Given the description of an element on the screen output the (x, y) to click on. 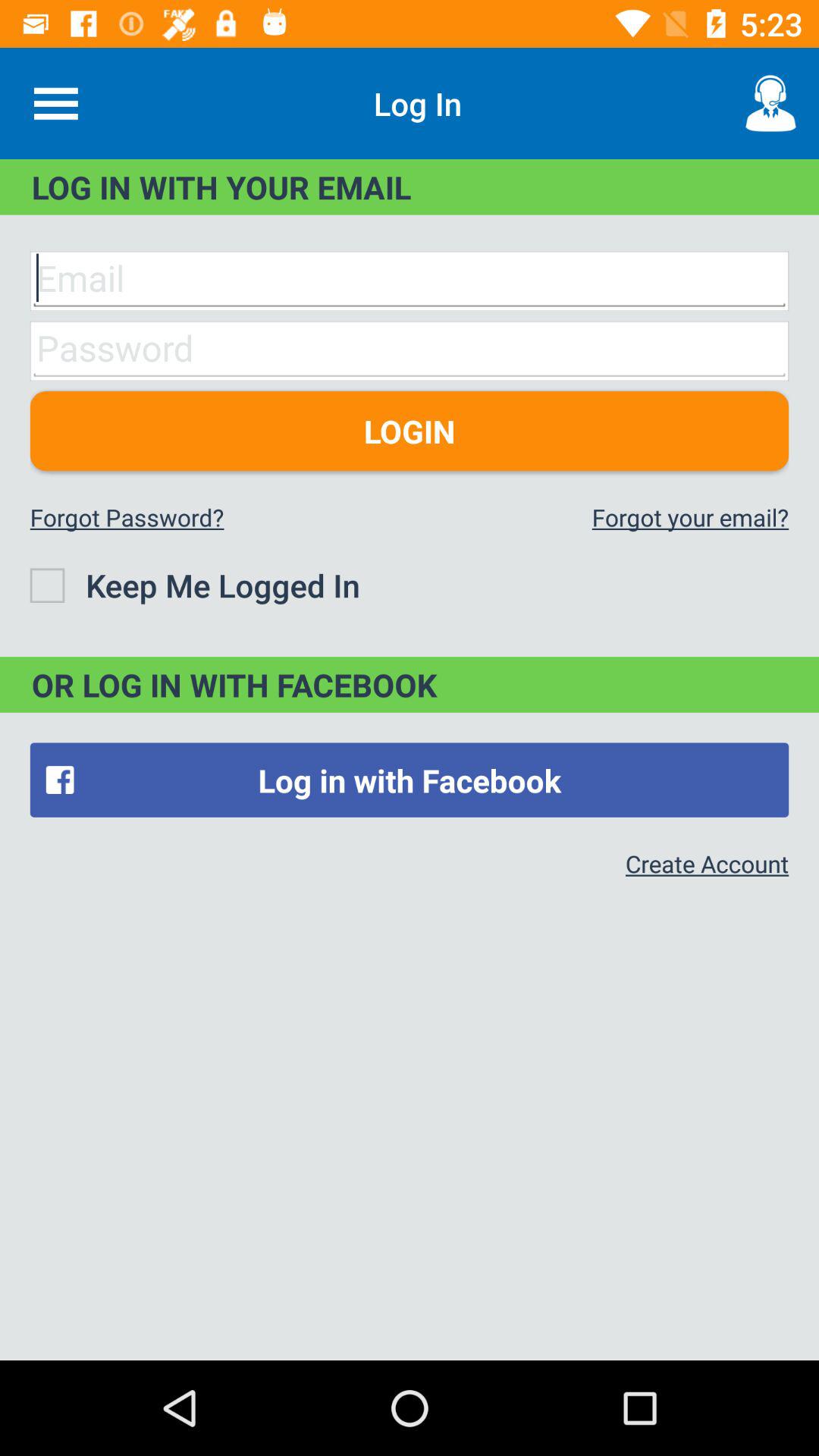
tap the icon to the right of the log in (771, 103)
